Given the description of an element on the screen output the (x, y) to click on. 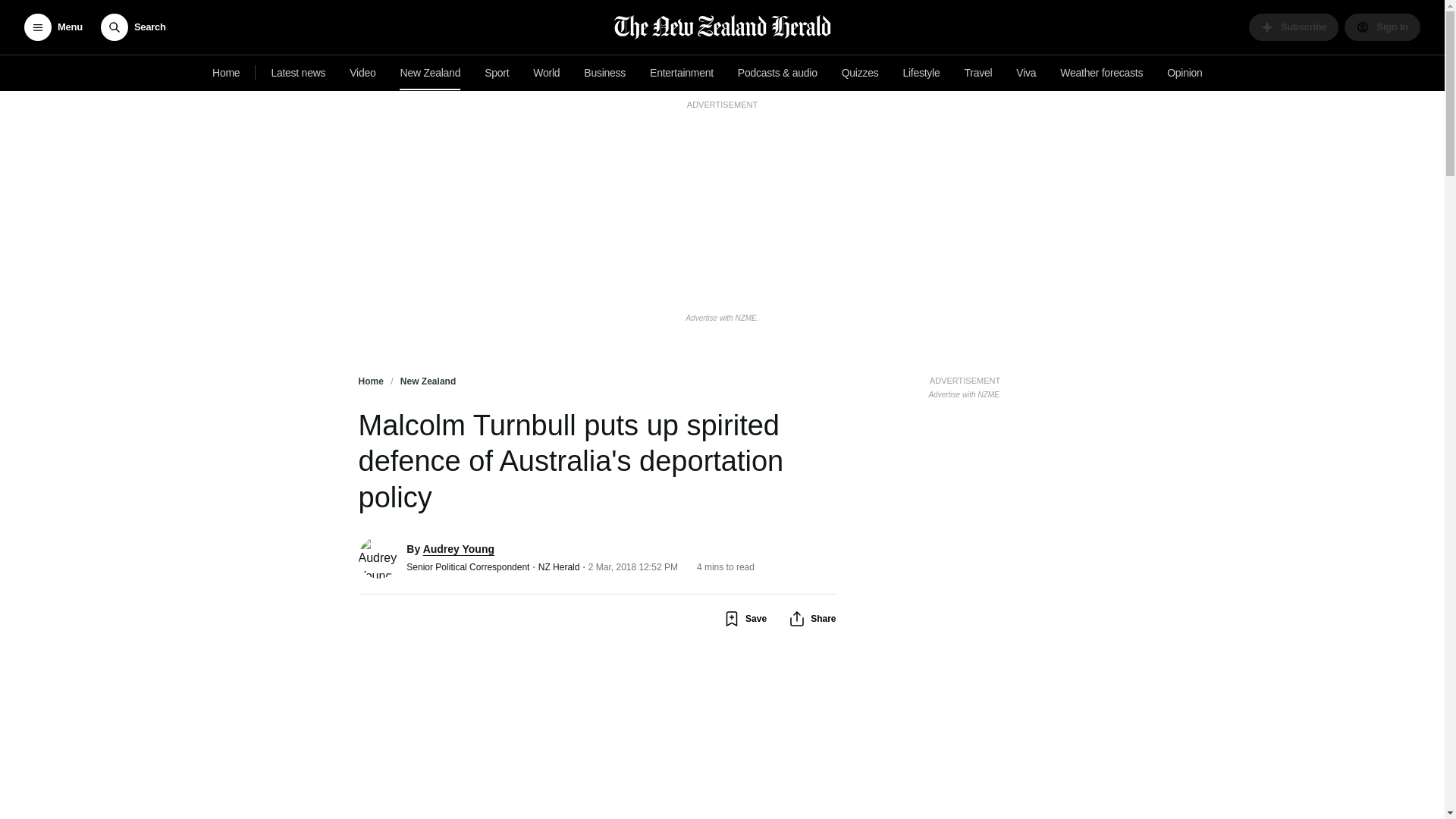
Opinion (1184, 72)
Weather forecasts (1101, 72)
Latest news (298, 72)
Viva (964, 384)
Quizzes (1026, 72)
Business (860, 72)
Subscribe (604, 72)
Manage your account (1294, 26)
Home (1382, 26)
